Given the description of an element on the screen output the (x, y) to click on. 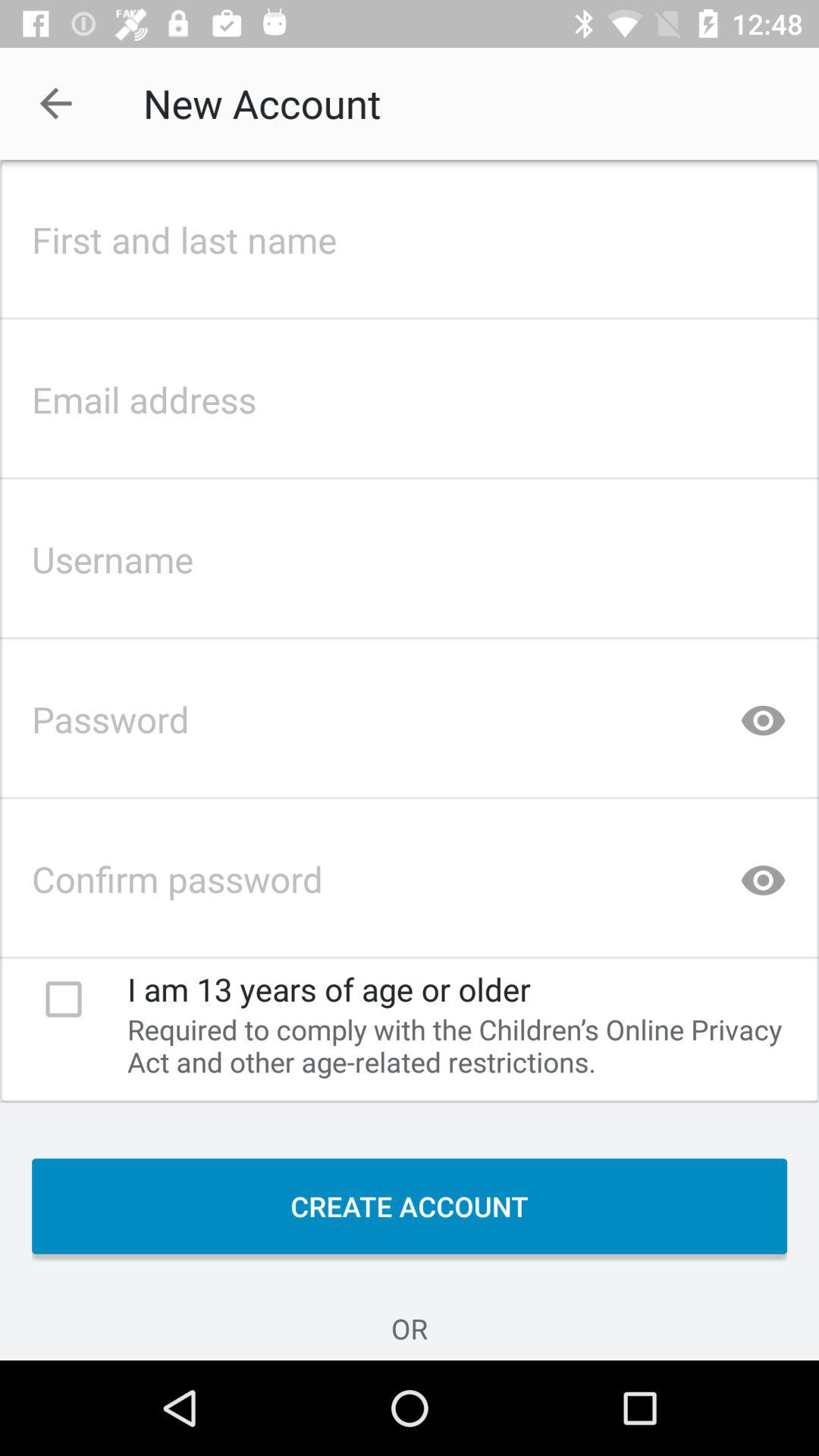
type username (409, 554)
